Given the description of an element on the screen output the (x, y) to click on. 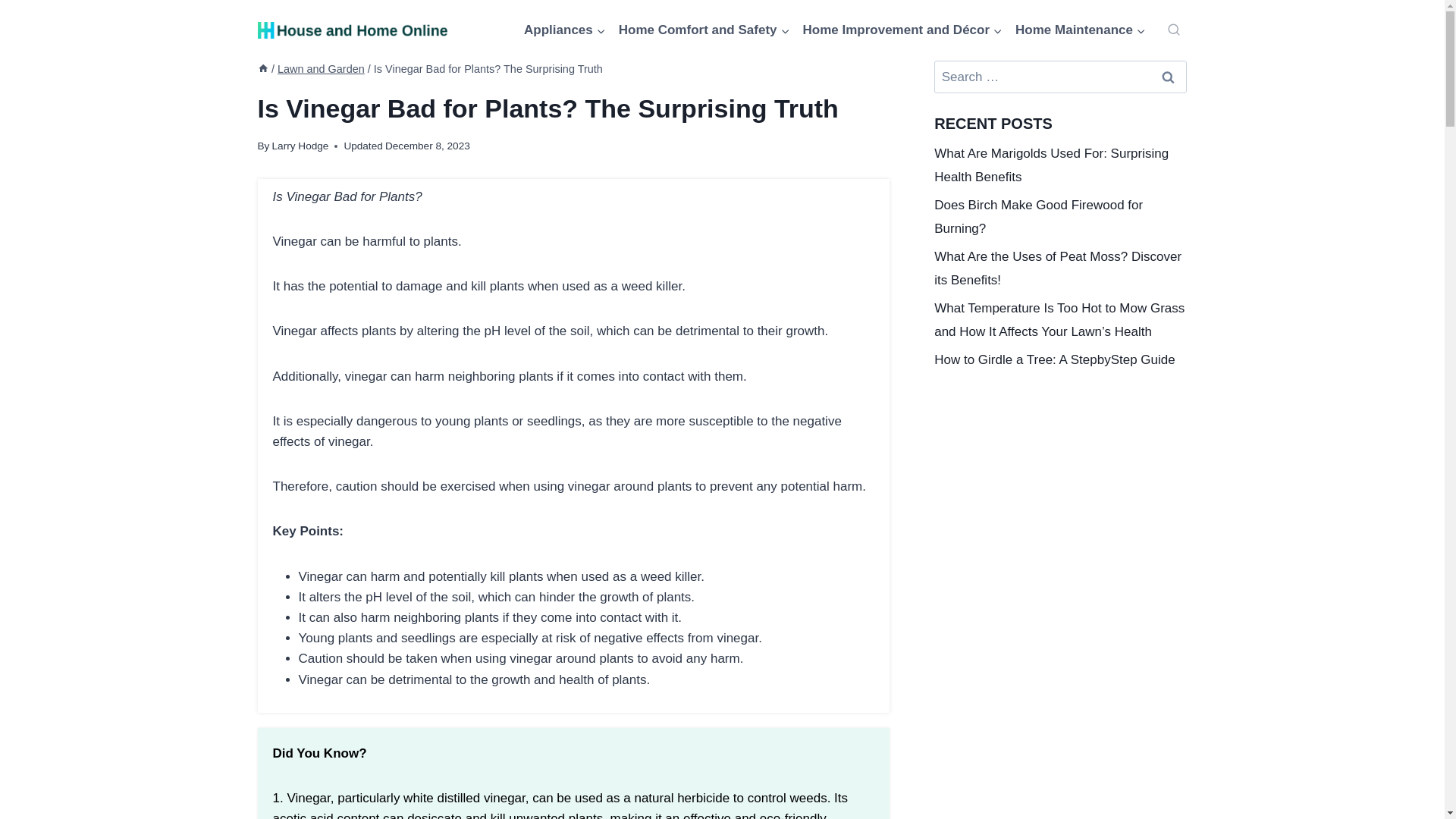
Search (1167, 76)
Appliances (565, 30)
Home Comfort and Safety (703, 30)
Search (1167, 76)
Home Maintenance (1081, 30)
Lawn and Garden (321, 69)
